Given the description of an element on the screen output the (x, y) to click on. 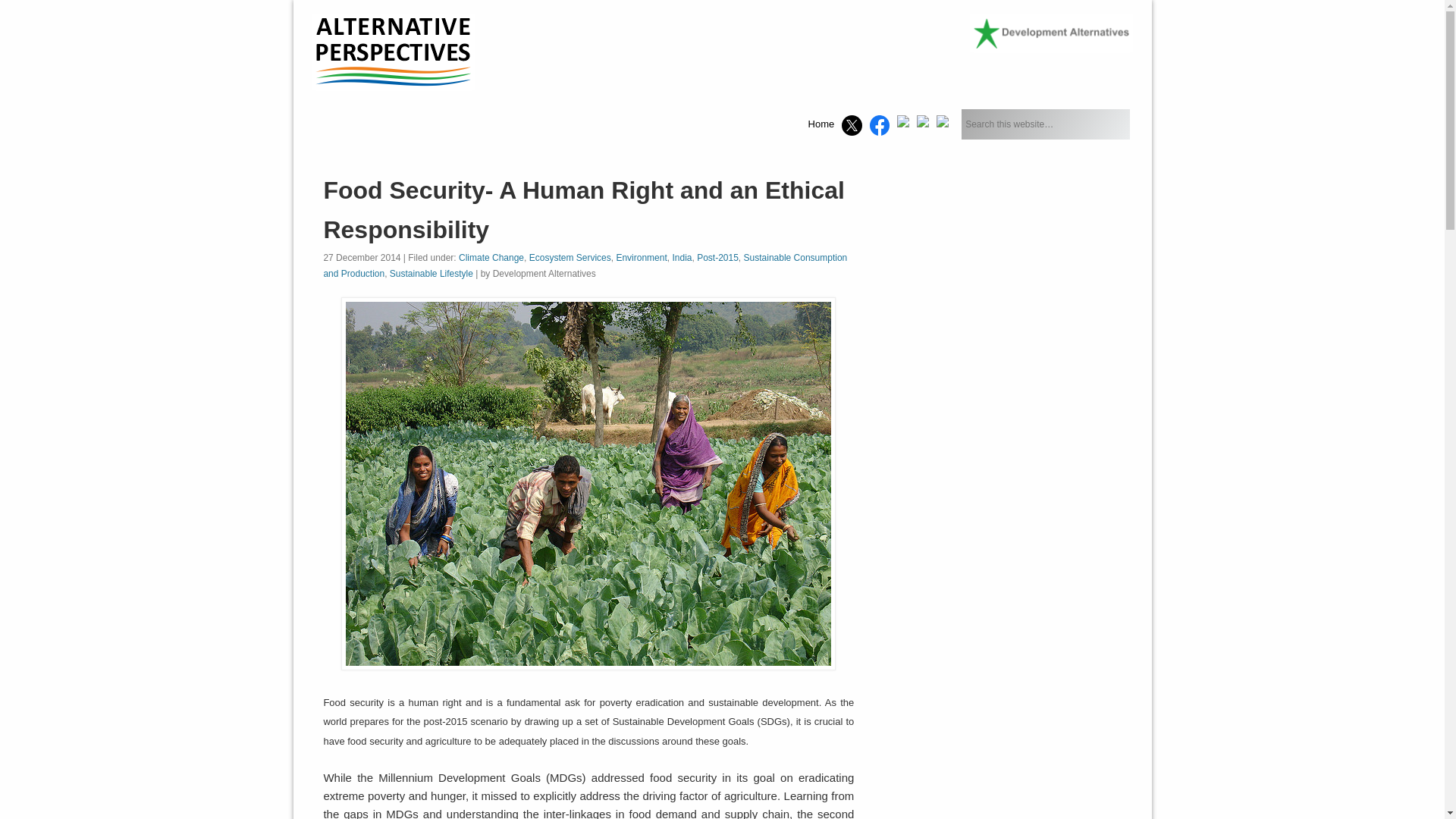
Sustainable Lifestyle (431, 273)
Ecosystem Services (570, 257)
Climate Change (491, 257)
Search (11, 7)
Environment (640, 257)
Sustainable Consumption and Production (585, 265)
Post-2015 (717, 257)
India (681, 257)
Home (821, 124)
